Given the description of an element on the screen output the (x, y) to click on. 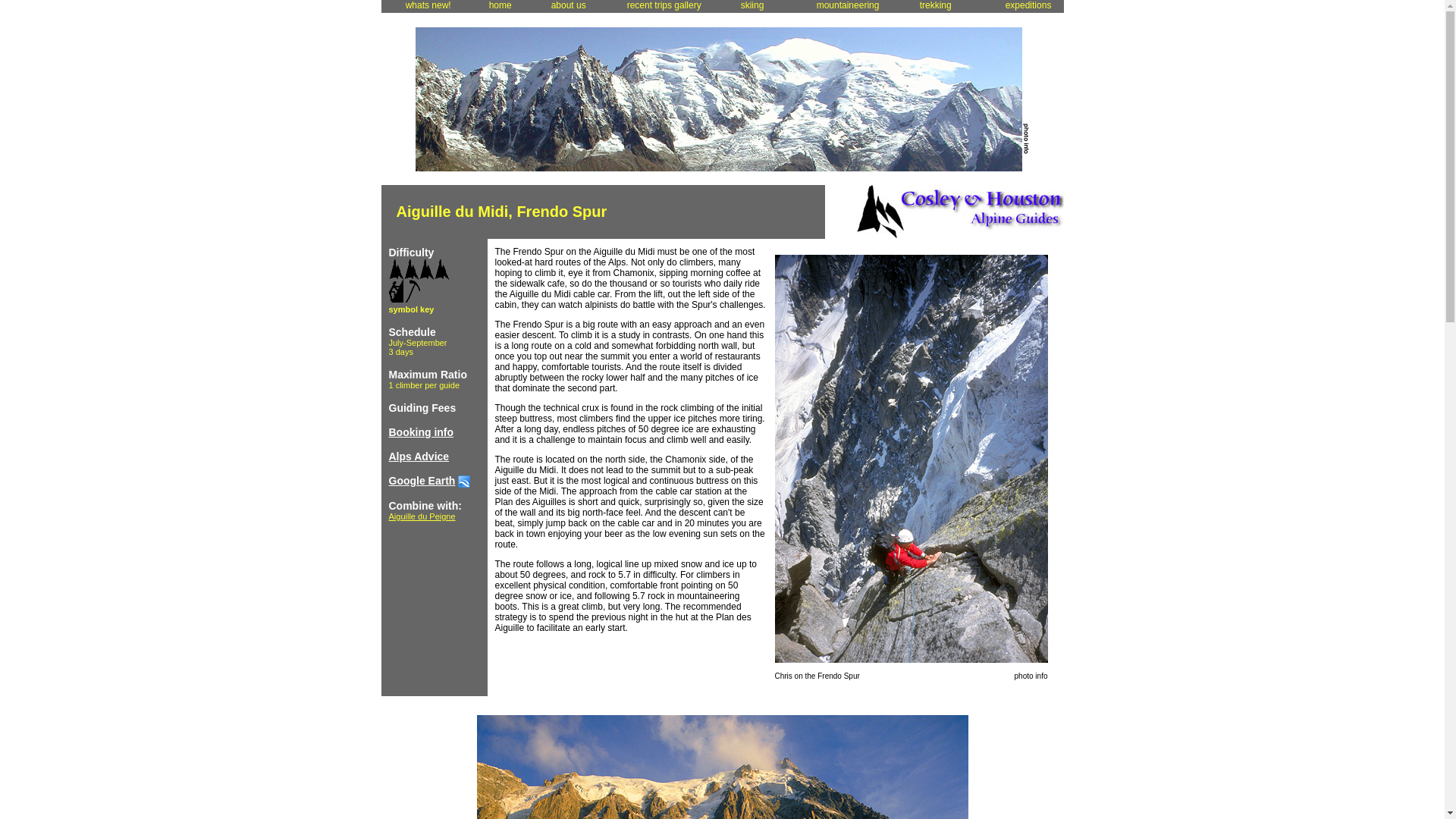
  expeditions (1027, 6)
  home (499, 6)
  recent trips gallery (662, 6)
  whats new! (426, 6)
  about us (568, 6)
Click to download Google Earth .kmz file for this trip. (464, 481)
  trekking (941, 6)
  mountaineering (846, 6)
  skiing (757, 6)
